Given the description of an element on the screen output the (x, y) to click on. 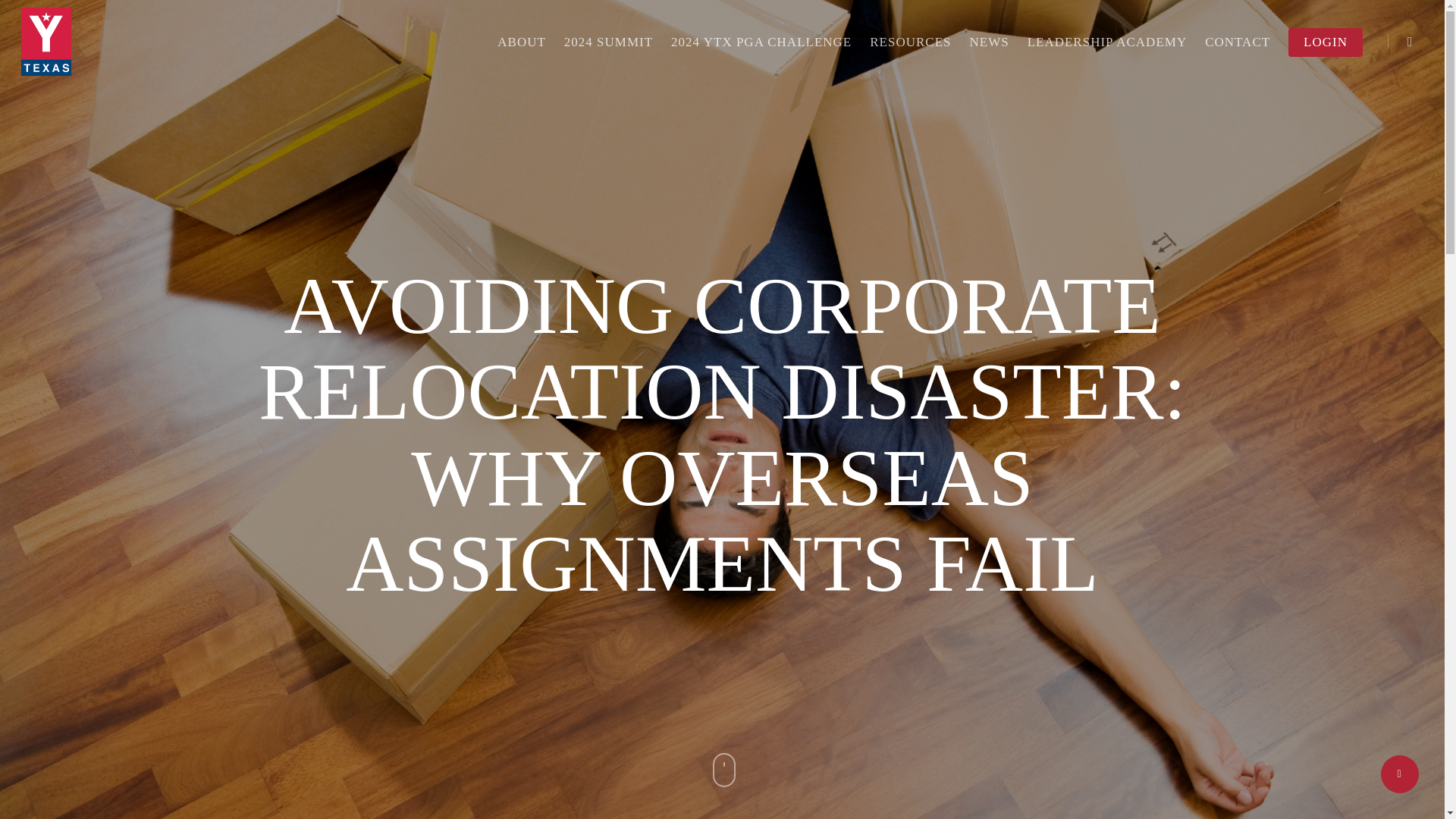
NEWS (989, 42)
RESOURCES (909, 42)
2024 YTX PGA CHALLENGE (761, 42)
CONTACT (1237, 42)
LOGIN (1325, 42)
ABOUT (521, 42)
2024 SUMMIT (608, 42)
LEADERSHIP ACADEMY (1107, 42)
